Given the description of an element on the screen output the (x, y) to click on. 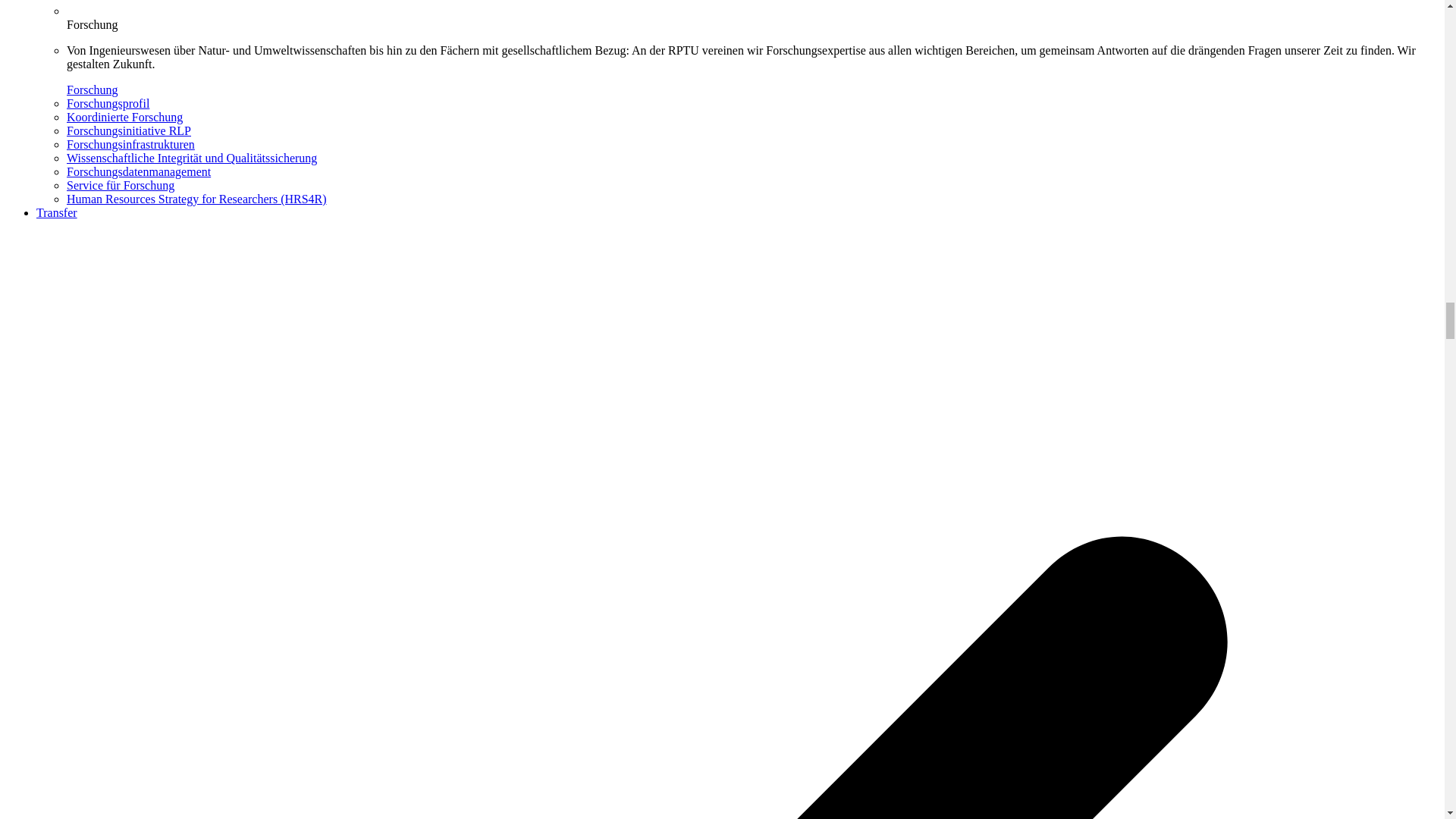
Forschungsdatenmanagement (138, 171)
Forschungsprofil (107, 103)
Koordinierte Forschung (124, 116)
Forschung (91, 89)
Forschungsinitiative RLP (128, 130)
Forschungsinfrastrukturen (130, 144)
